Given the description of an element on the screen output the (x, y) to click on. 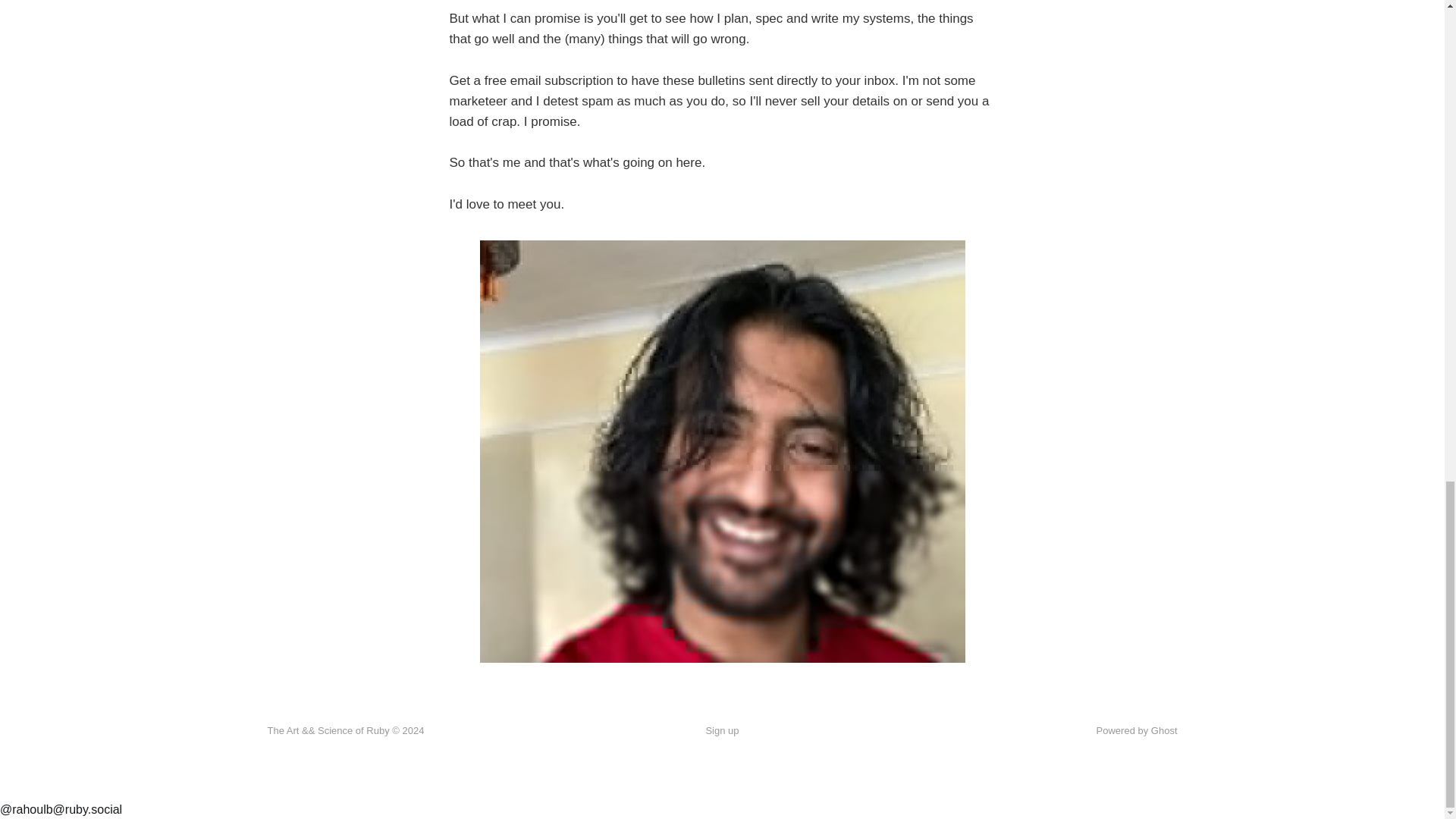
Sign up (721, 731)
Powered by Ghost (1136, 730)
